Given the description of an element on the screen output the (x, y) to click on. 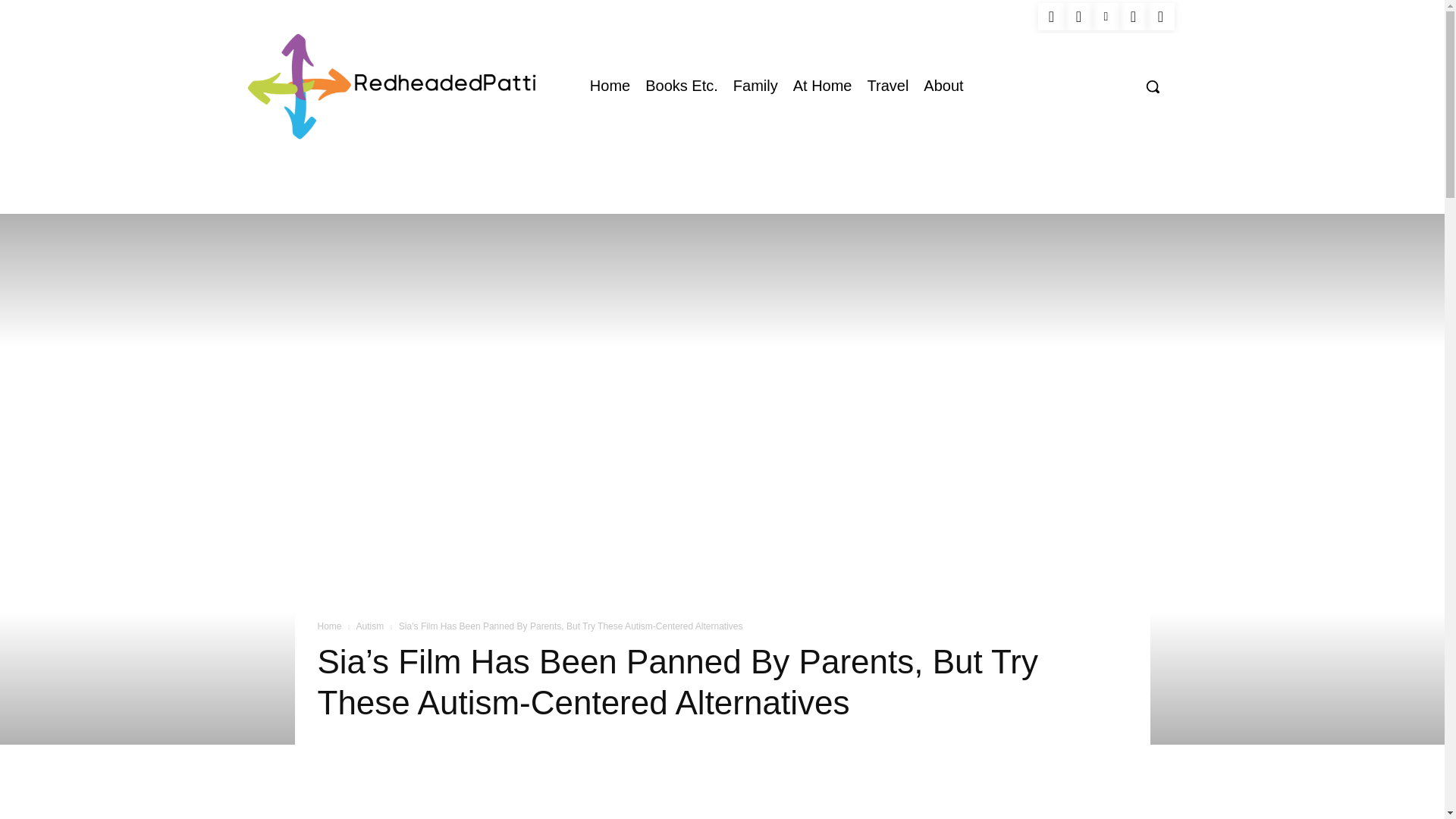
Family (755, 85)
Books Etc. (681, 85)
Facebook (1050, 16)
Pinterest (1105, 16)
At Home (823, 85)
Instagram (1078, 16)
Home (609, 85)
Travel (888, 85)
